Given the description of an element on the screen output the (x, y) to click on. 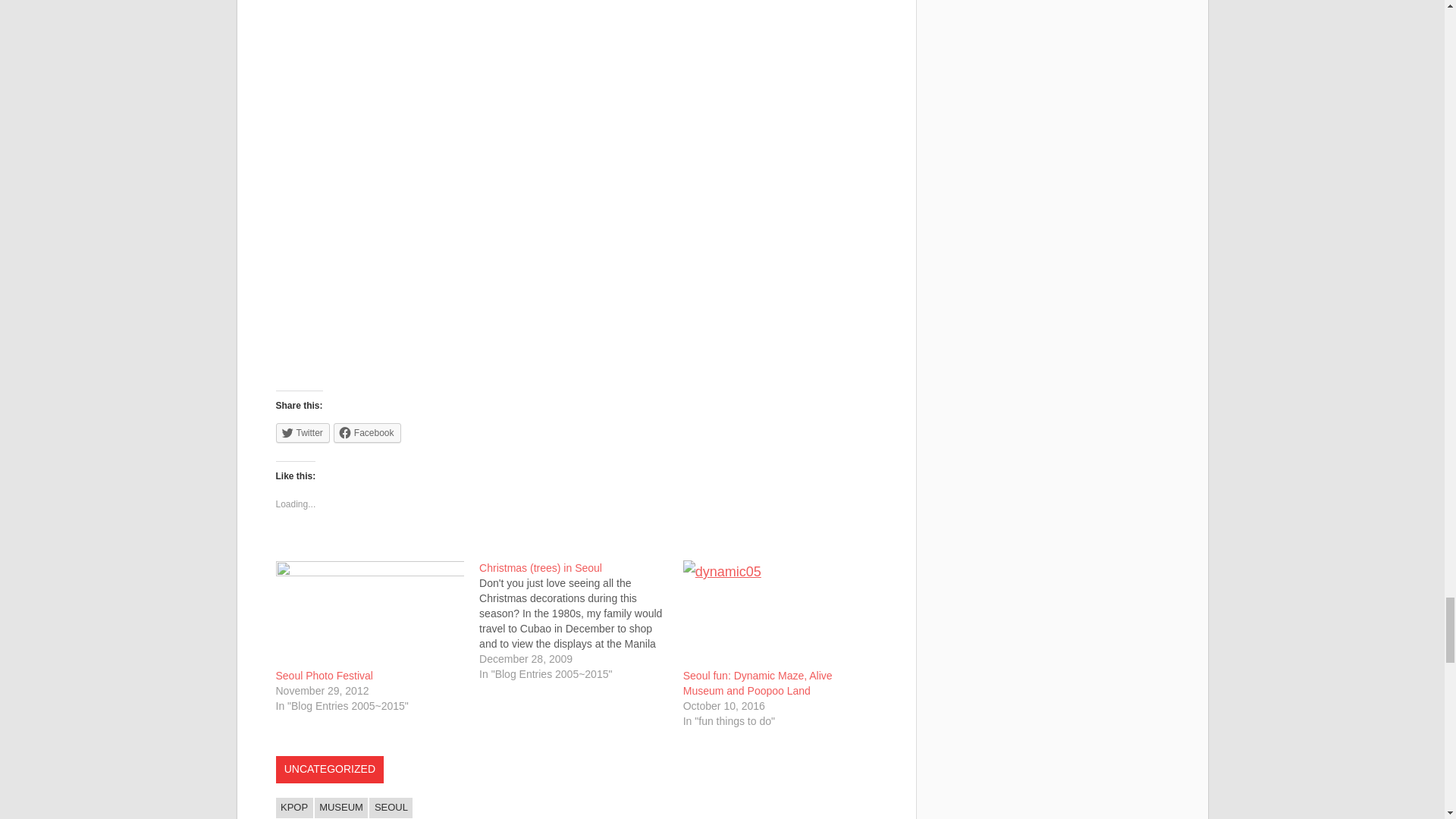
Seoul Photo Festival (370, 614)
Click to share on Twitter (303, 433)
Facebook (367, 433)
Seoul fun: Dynamic Maze, Alive Museum and Poopoo Land (757, 682)
Twitter (303, 433)
Seoul Photo Festival (324, 675)
Seoul fun: Dynamic Maze, Alive Museum and Poopoo Land (777, 614)
Seoul Photo Festival (324, 675)
Click to share on Facebook (367, 433)
